Given the description of an element on the screen output the (x, y) to click on. 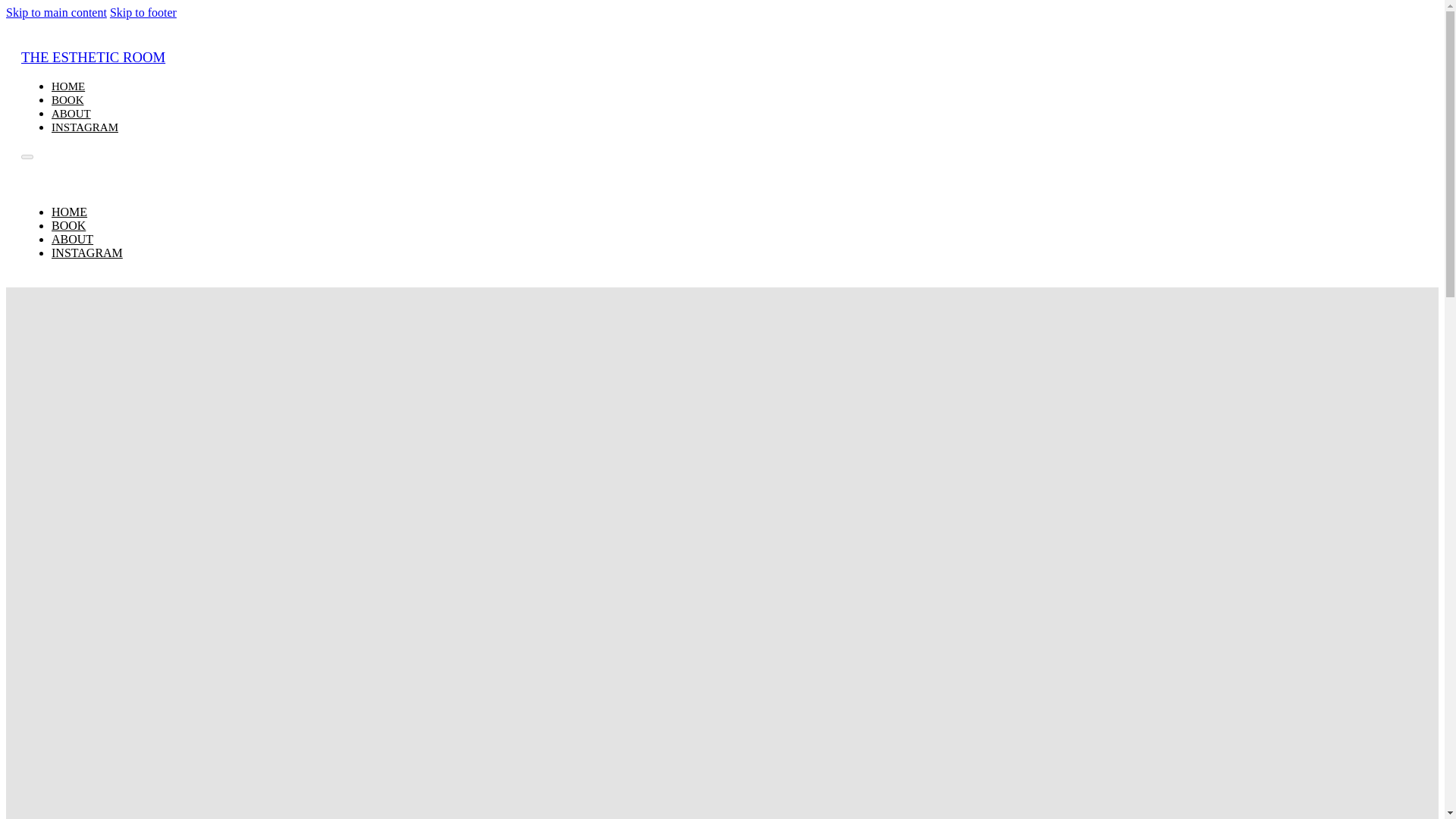
INSTAGRAM (83, 127)
ABOUT (71, 238)
ABOUT (70, 113)
INSTAGRAM (86, 252)
BOOK (67, 100)
HOME (67, 86)
Skip to footer (143, 11)
HOME (68, 211)
Skip to main content (55, 11)
THE ESTHETIC ROOM (93, 57)
BOOK (67, 225)
